Given the description of an element on the screen output the (x, y) to click on. 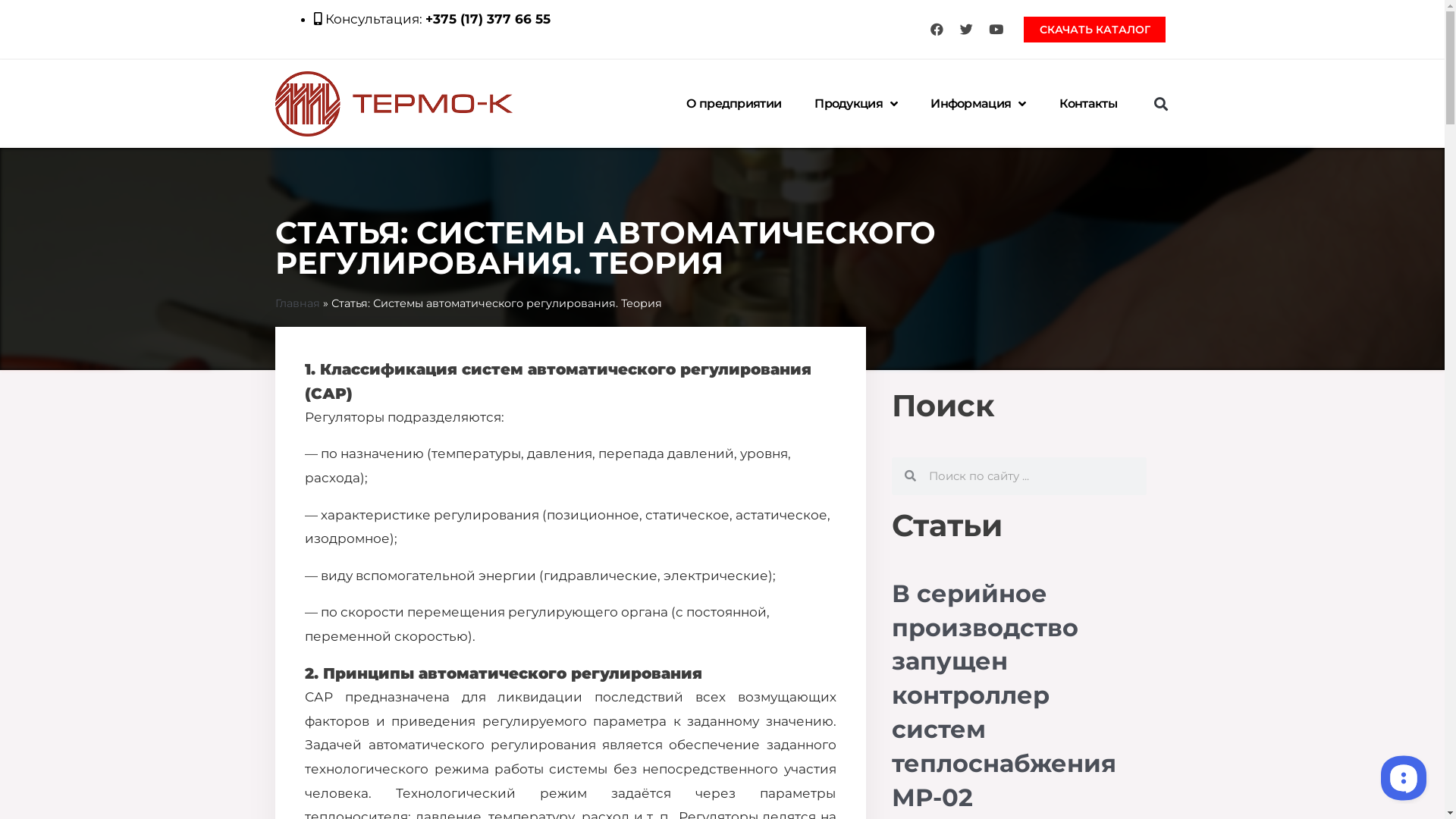
Facebook Element type: text (936, 29)
Twitter Element type: text (966, 29)
__replain_widget_iframe Element type: hover (1402, 776)
Youtube Element type: text (995, 29)
